Given the description of an element on the screen output the (x, y) to click on. 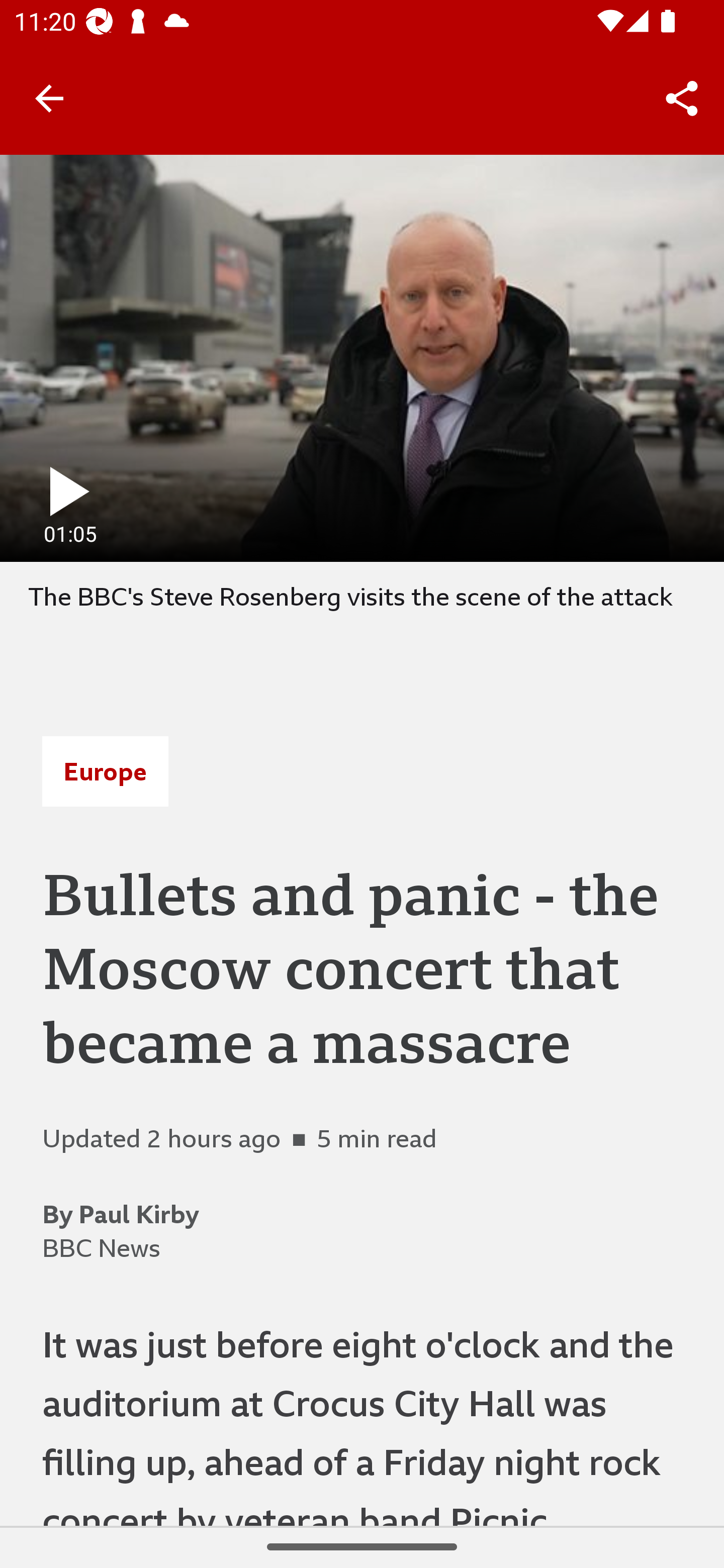
Back (49, 97)
Share (681, 98)
play fullscreen 01:05 1 minute, 5 seconds (362, 358)
Europe (104, 771)
